Given the description of an element on the screen output the (x, y) to click on. 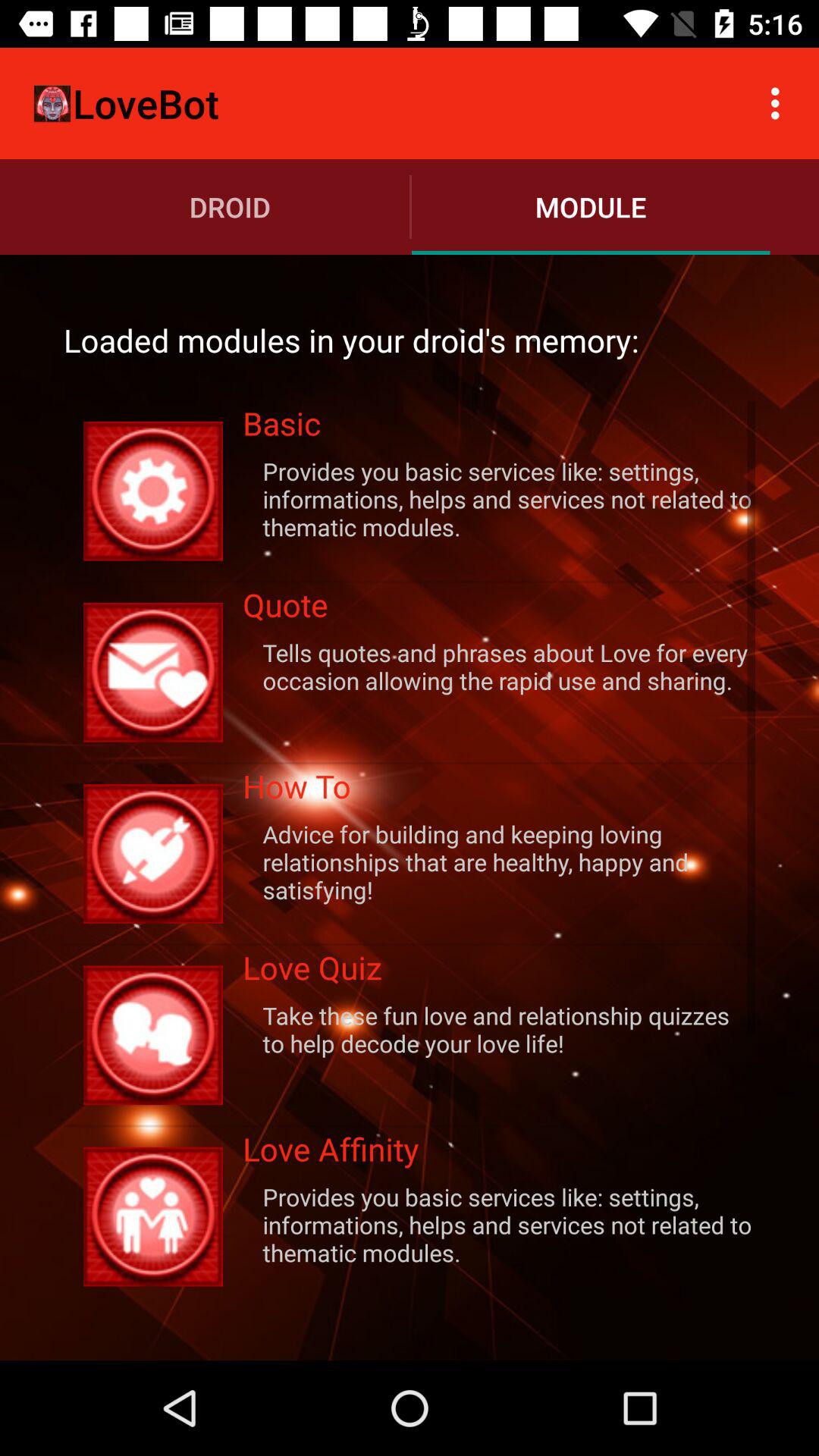
press the icon above the tells quotes and icon (498, 609)
